Given the description of an element on the screen output the (x, y) to click on. 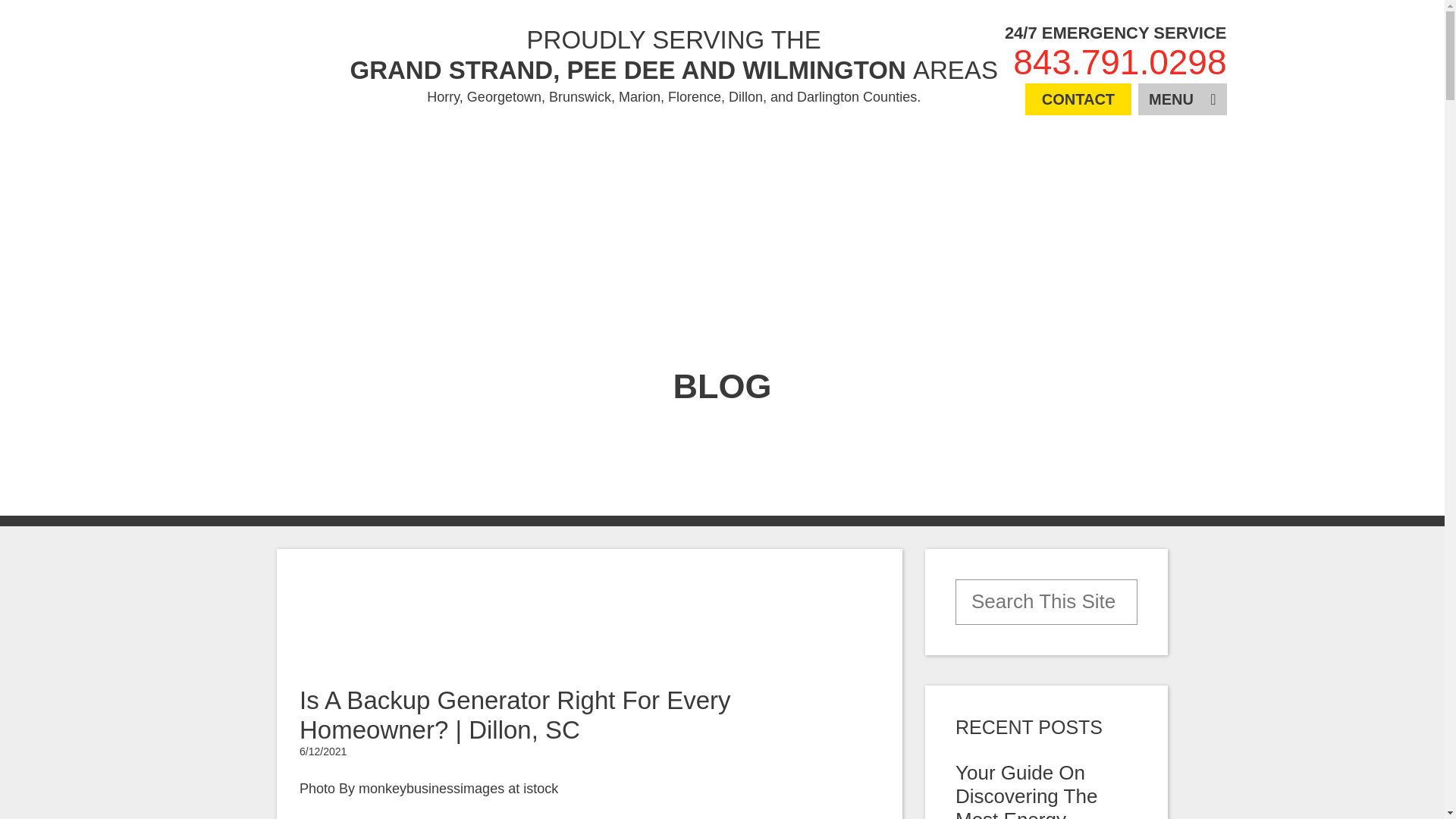
CONTACT (1078, 98)
backup generators (664, 817)
Mister Sparky Generator (284, 64)
843.791.0298 (1119, 61)
